Given the description of an element on the screen output the (x, y) to click on. 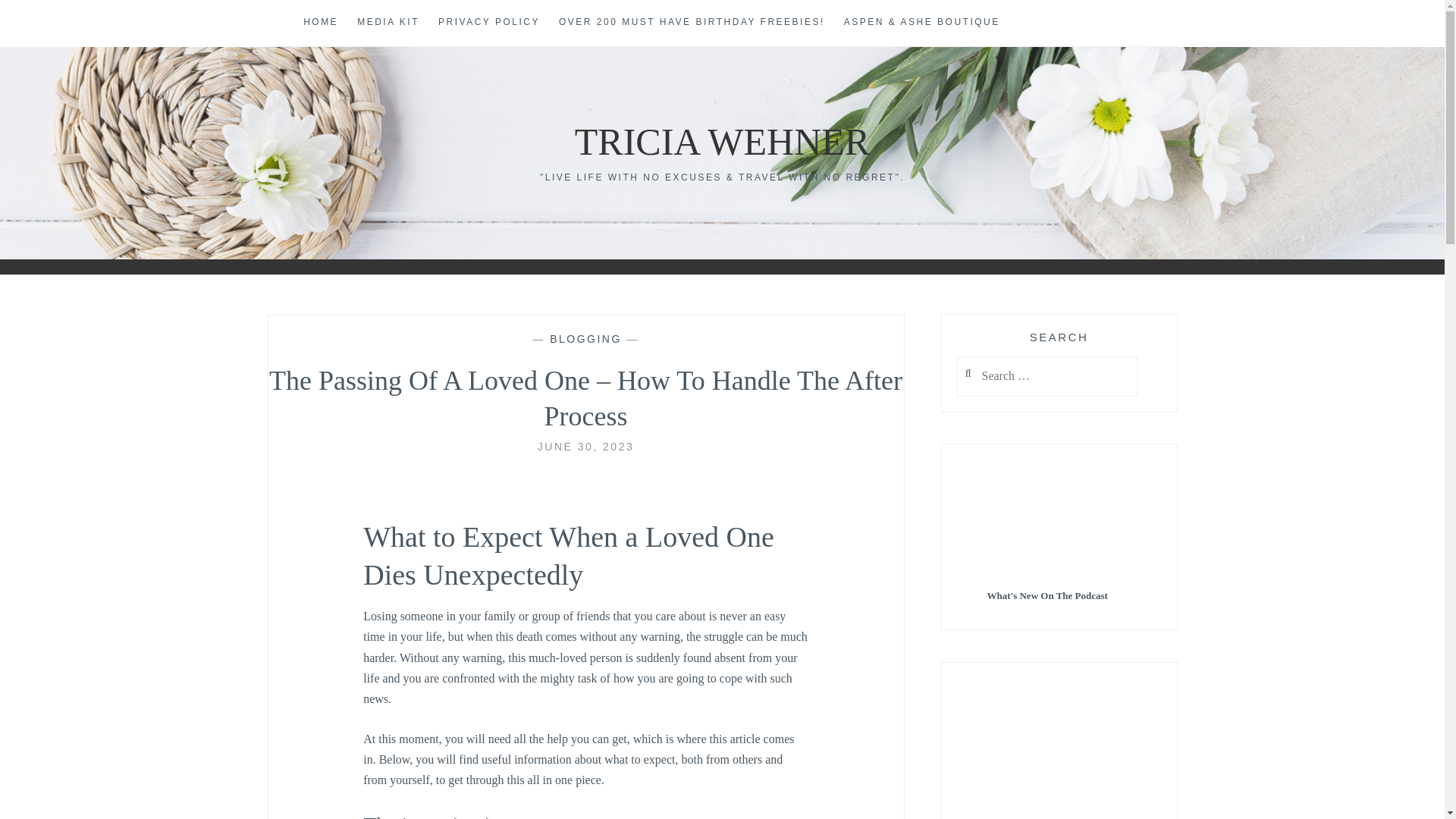
Get to know who we are and what we do! (387, 22)
OVER 200 MUST HAVE BIRTHDAY FREEBIES! (692, 22)
MEDIA KIT (387, 22)
Oleta Adams Many Rivers To Cross (1059, 749)
TRICIA WEHNER (722, 141)
BLOGGING (585, 338)
HOME (319, 22)
PRIVACY POLICY (489, 22)
Search (42, 19)
